Given the description of an element on the screen output the (x, y) to click on. 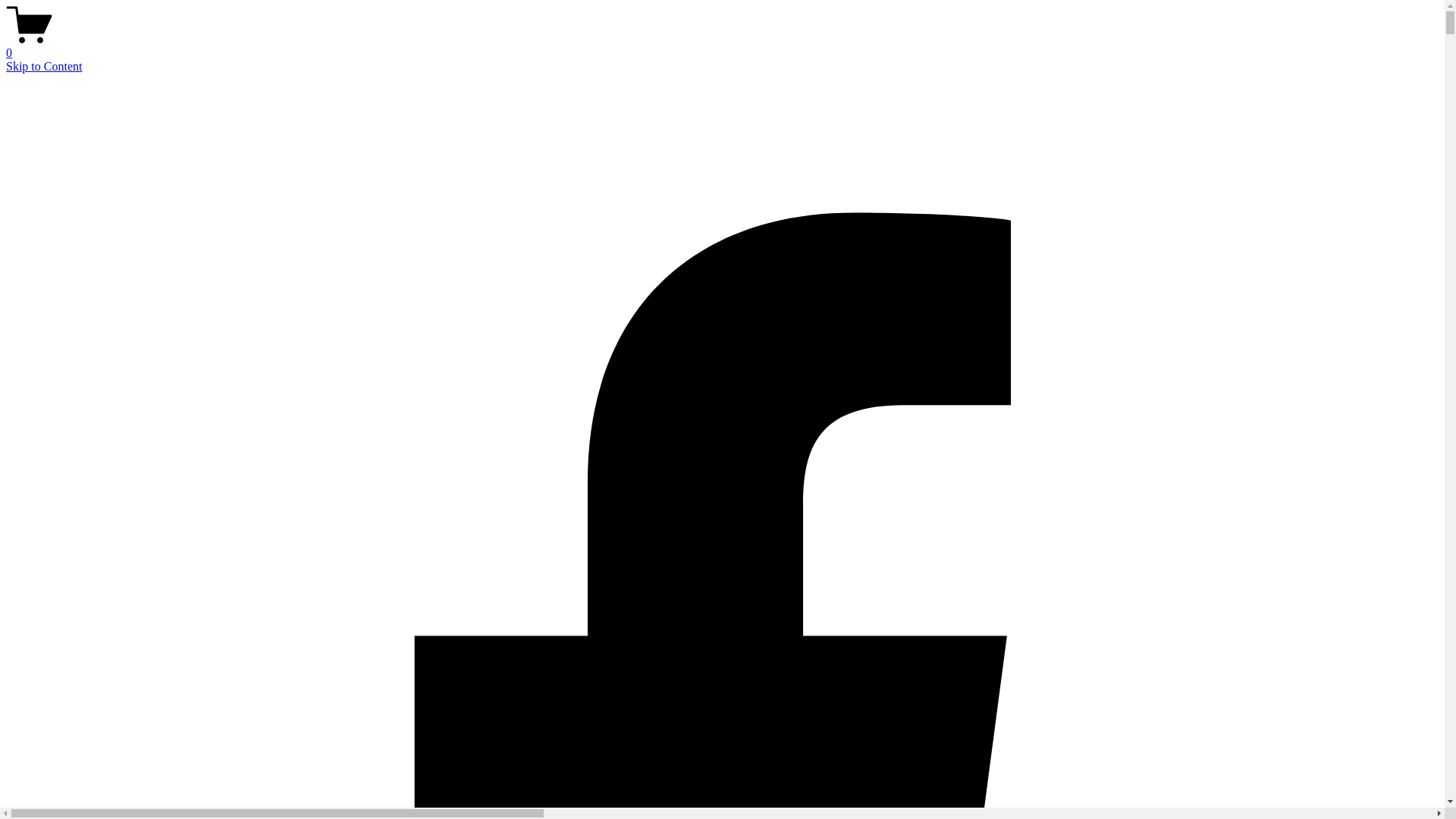
0 Element type: text (722, 45)
Skip to Content Element type: text (43, 65)
